Given the description of an element on the screen output the (x, y) to click on. 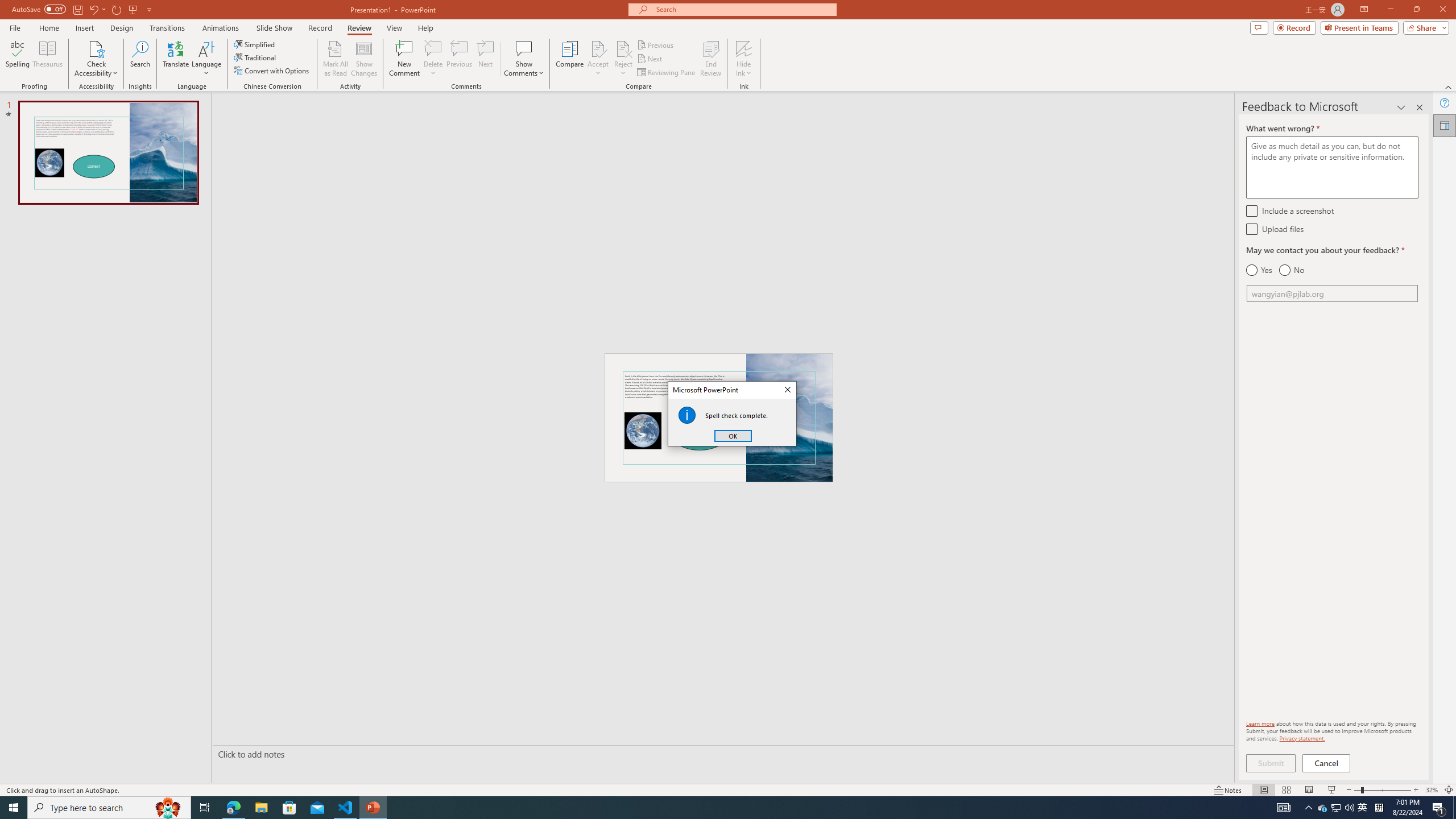
Check Accessibility (95, 48)
Include a screenshot (1251, 210)
OK (732, 435)
Language (206, 58)
Simplified (254, 44)
Learn more (1260, 723)
